Given the description of an element on the screen output the (x, y) to click on. 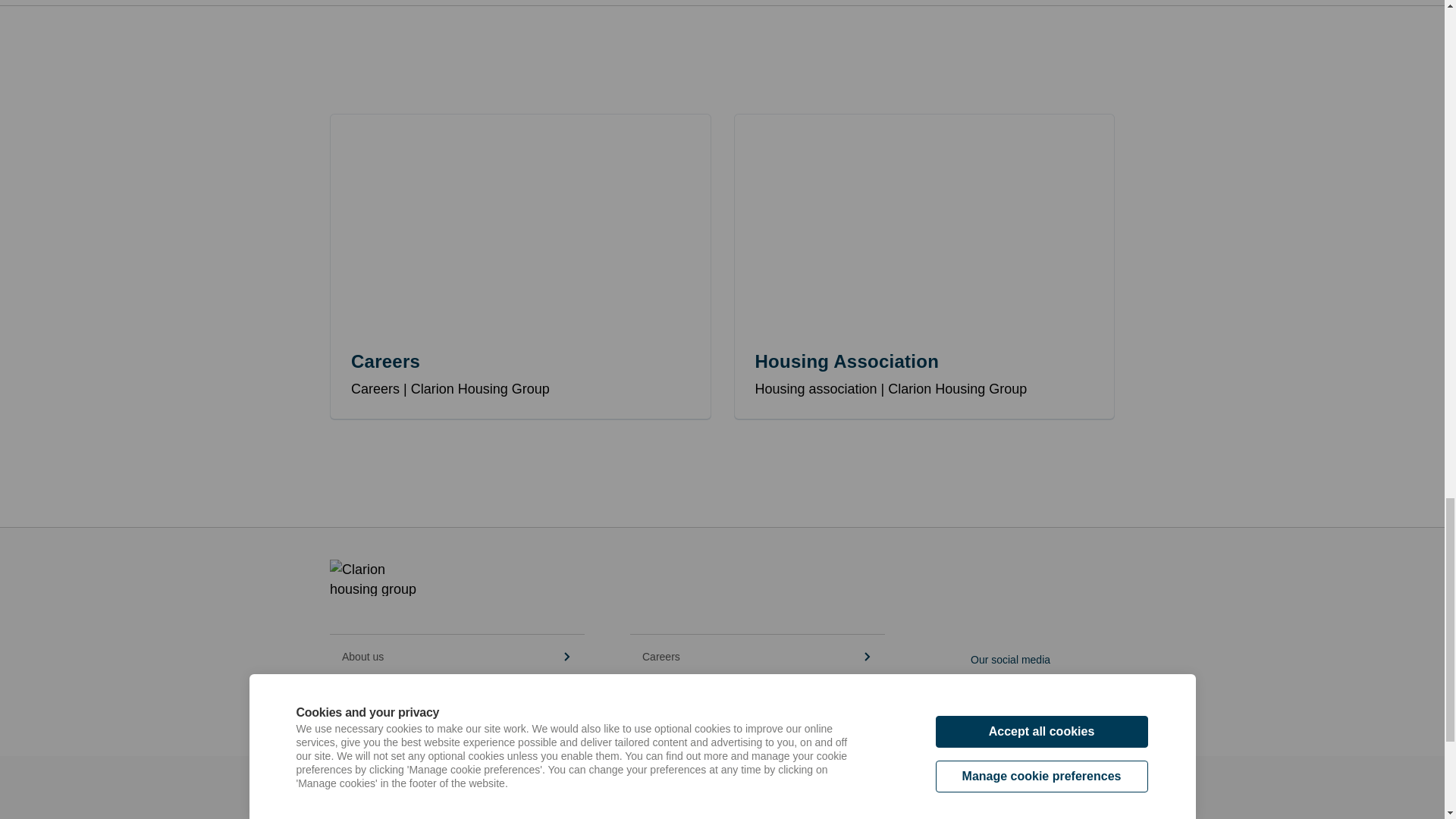
About us (457, 656)
LinkedIn (979, 683)
Clarion Housing Group logo (378, 577)
Clarion Housing (635, 801)
News and media (757, 701)
Careers (757, 656)
Contact us (457, 701)
